Given the description of an element on the screen output the (x, y) to click on. 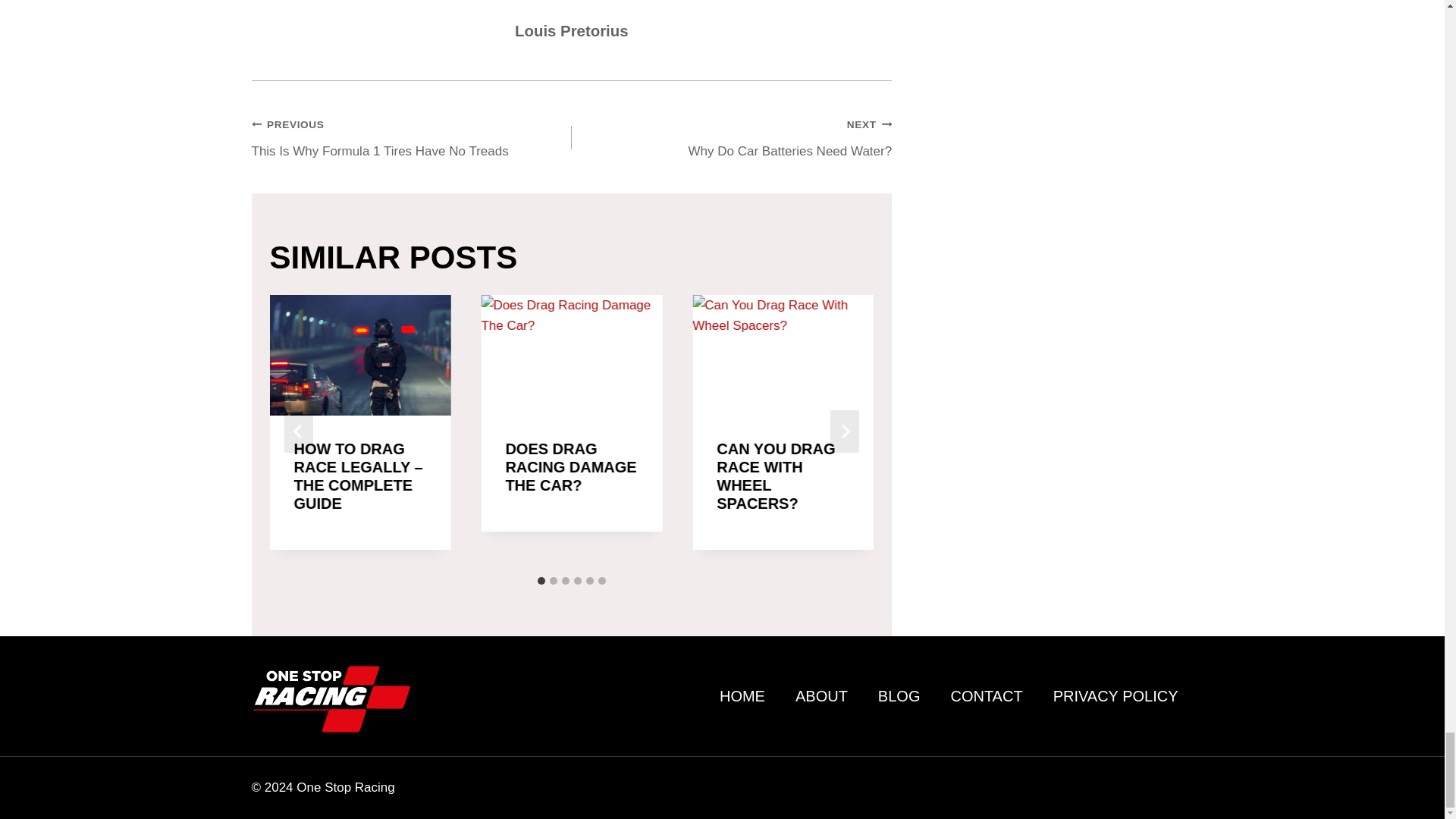
Posts by Louis Pretorius (571, 30)
Louis Pretorius (411, 137)
